Given the description of an element on the screen output the (x, y) to click on. 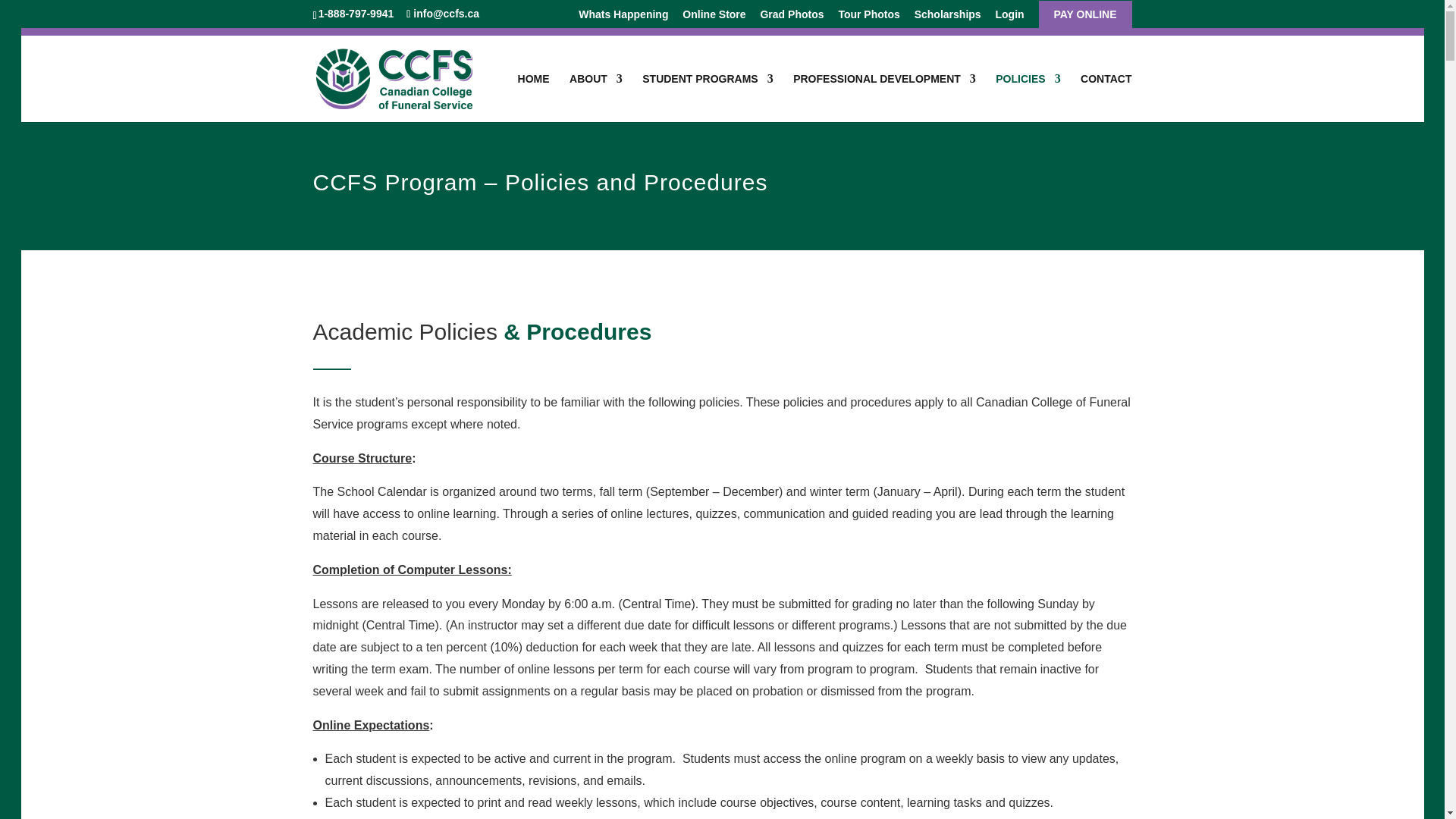
STUDENT PROGRAMS (707, 97)
Scholarships (947, 18)
Login (1008, 18)
ABOUT (596, 97)
POLICIES (1027, 97)
Grad Photos (792, 18)
Online Store (713, 18)
Whats Happening (623, 18)
1-888-797-9941 (358, 13)
PAY ONLINE (1085, 18)
